Given the description of an element on the screen output the (x, y) to click on. 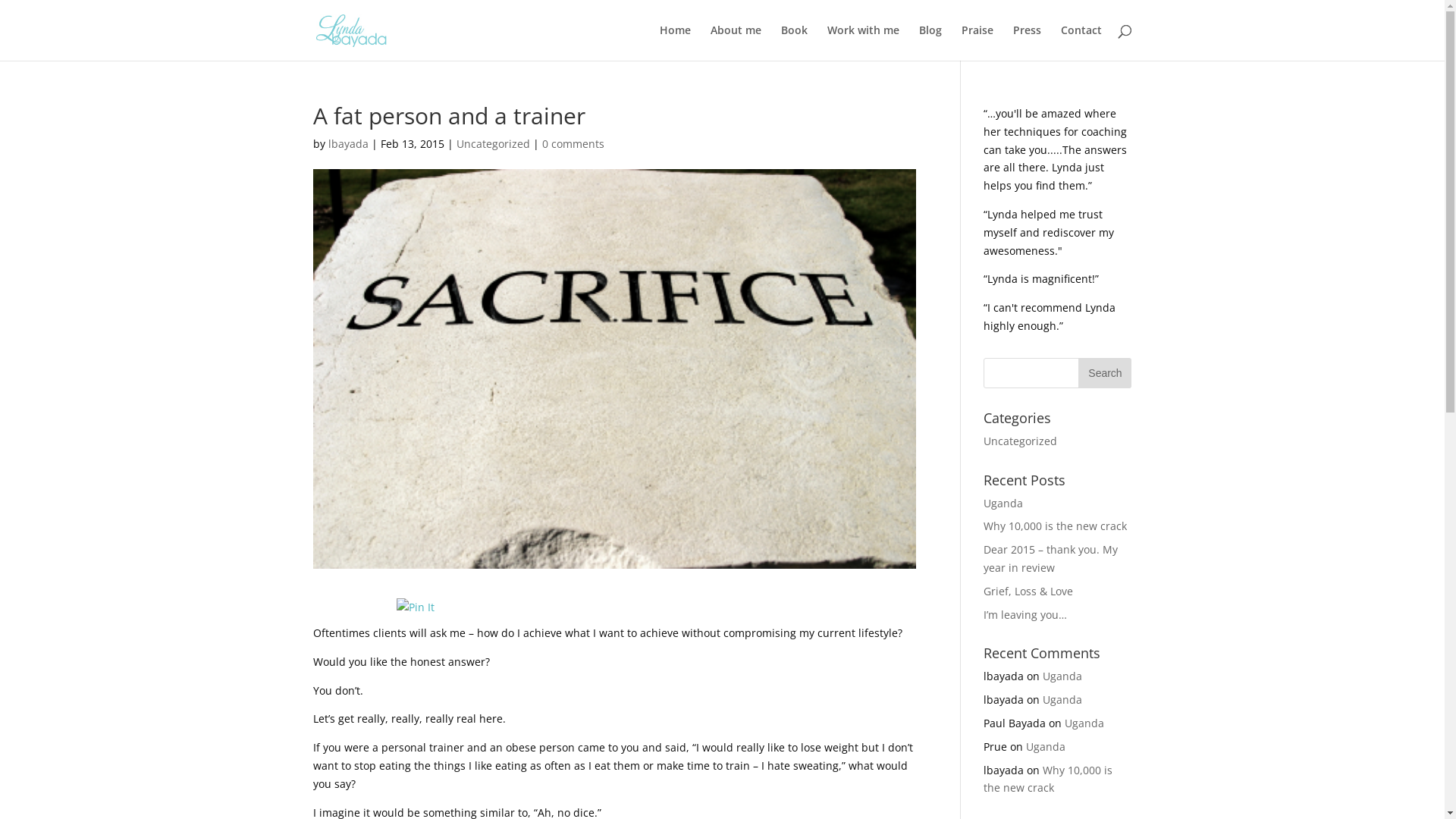
Contact Element type: text (1080, 42)
Uganda Element type: text (1062, 675)
Uganda Element type: text (1062, 699)
Uganda Element type: text (1002, 502)
Why 10,000 is the new crack Element type: text (1047, 778)
Uganda Element type: text (1045, 746)
Home Element type: text (674, 42)
About me Element type: text (734, 42)
Uganda Element type: text (1084, 722)
0 comments Element type: text (572, 143)
Work with me Element type: text (862, 42)
Press Element type: text (1027, 42)
Book Element type: text (794, 42)
Blog Element type: text (930, 42)
Uncategorized Element type: text (493, 143)
Praise Element type: text (977, 42)
Search Element type: text (1104, 372)
Uncategorized Element type: text (1020, 440)
lbayada Element type: text (347, 143)
Grief, Loss & Love Element type: text (1028, 590)
Why 10,000 is the new crack Element type: text (1054, 525)
